Given the description of an element on the screen output the (x, y) to click on. 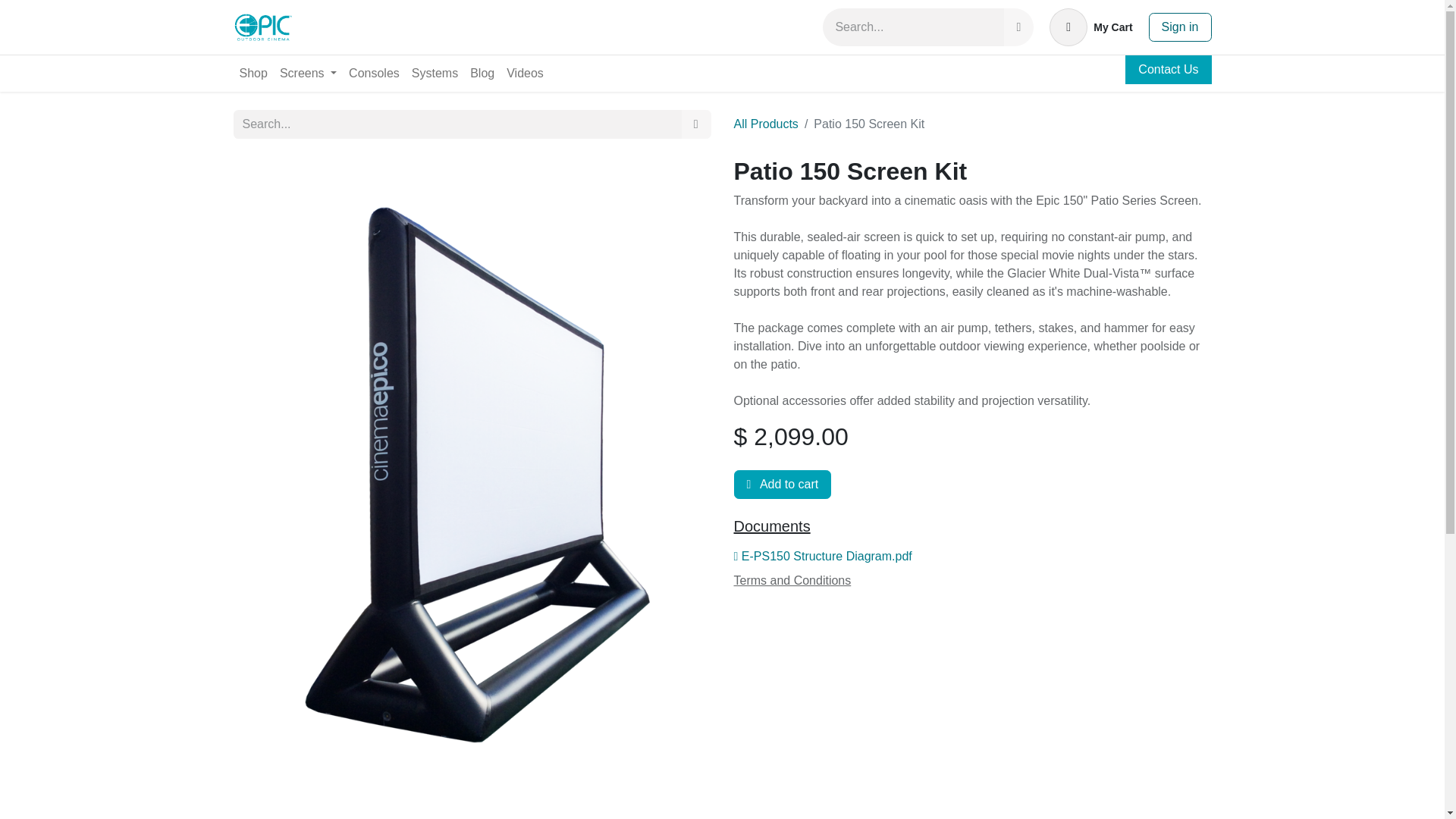
All Products (765, 123)
epicoutdoorcinema (263, 27)
Shop (252, 73)
Contact Us (1168, 69)
Blog (482, 73)
Search (696, 123)
My Cart (722, 27)
Systems (1090, 27)
Videos (435, 73)
Terms and Conditions (525, 73)
Consoles (792, 580)
Add to cart (374, 73)
Screens (782, 484)
Sign in (307, 73)
